Given the description of an element on the screen output the (x, y) to click on. 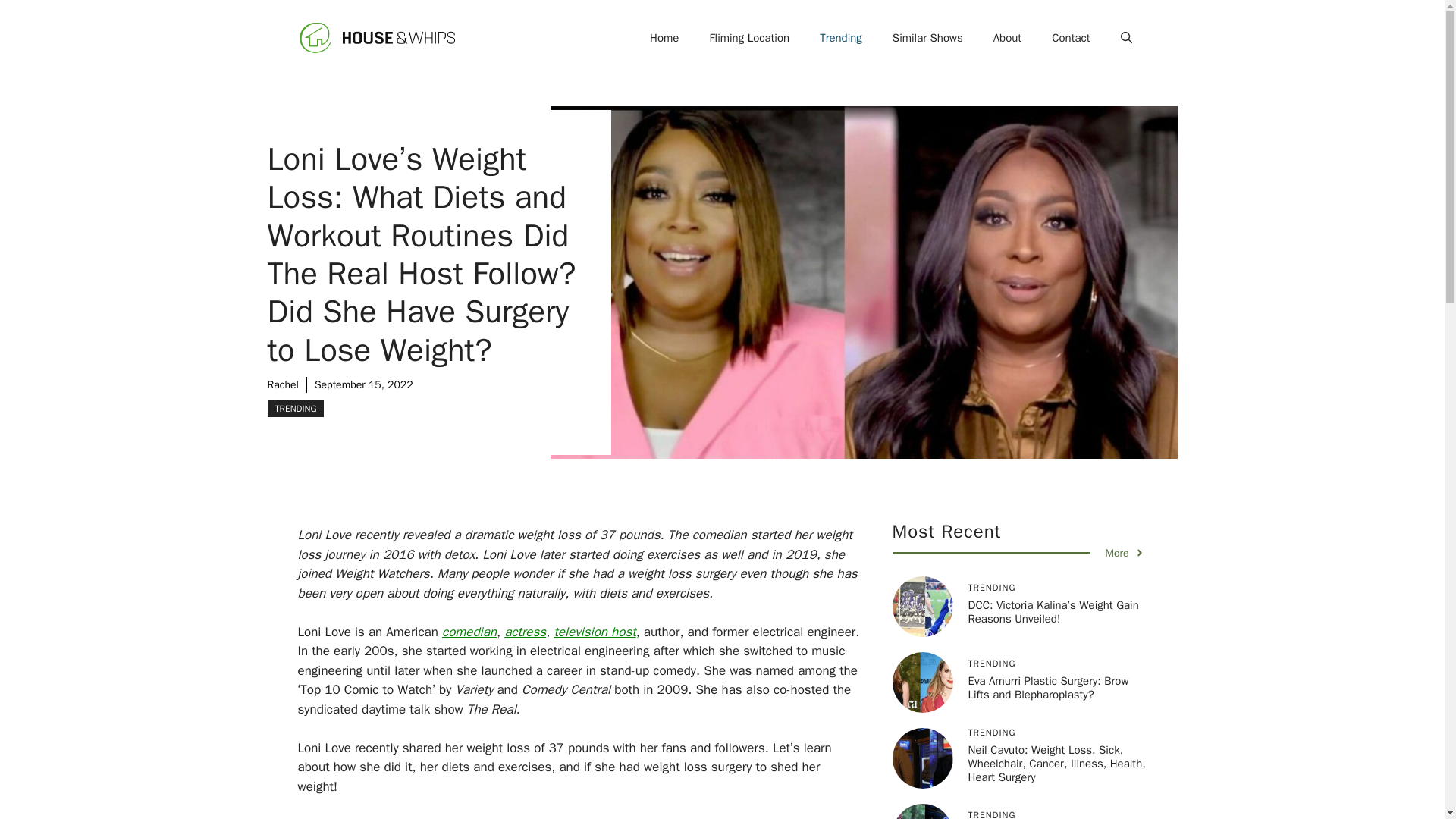
Home (664, 37)
weight loss (500, 818)
Rachel (282, 384)
television host (593, 631)
Fliming Location (749, 37)
More (1124, 553)
Contact (1070, 37)
Trending (841, 37)
TRENDING (294, 408)
